Given the description of an element on the screen output the (x, y) to click on. 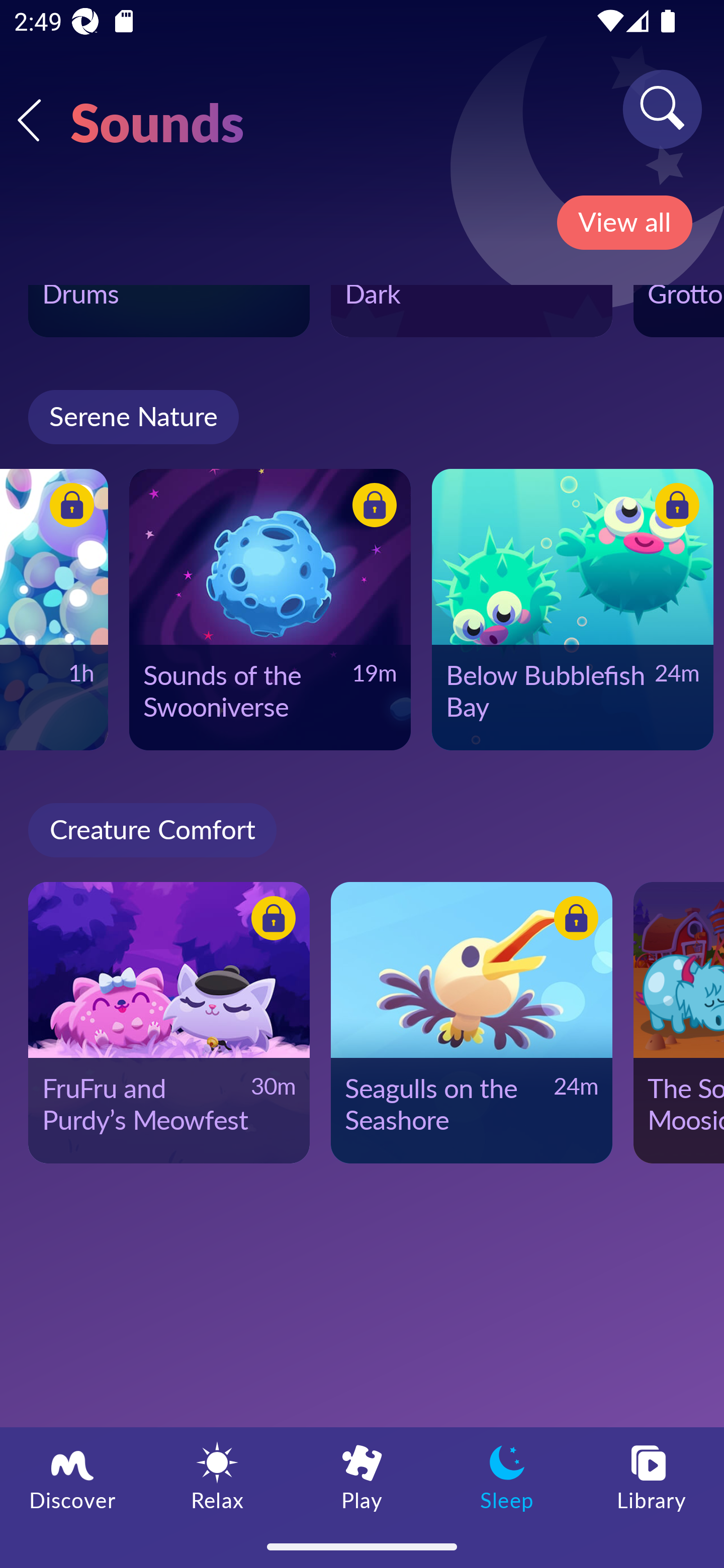
View all (624, 222)
Featured Content Button Oobla Doobla Drums 20m (168, 311)
Featured Content Button Jollywood After Dark 15m (471, 311)
Button (68, 507)
Button (371, 507)
Featured Content Button Below Bubblefish Bay 24m (572, 609)
Button (673, 507)
Button (269, 920)
Button (573, 920)
Discover (72, 1475)
Relax (216, 1475)
Play (361, 1475)
Library (651, 1475)
